Given the description of an element on the screen output the (x, y) to click on. 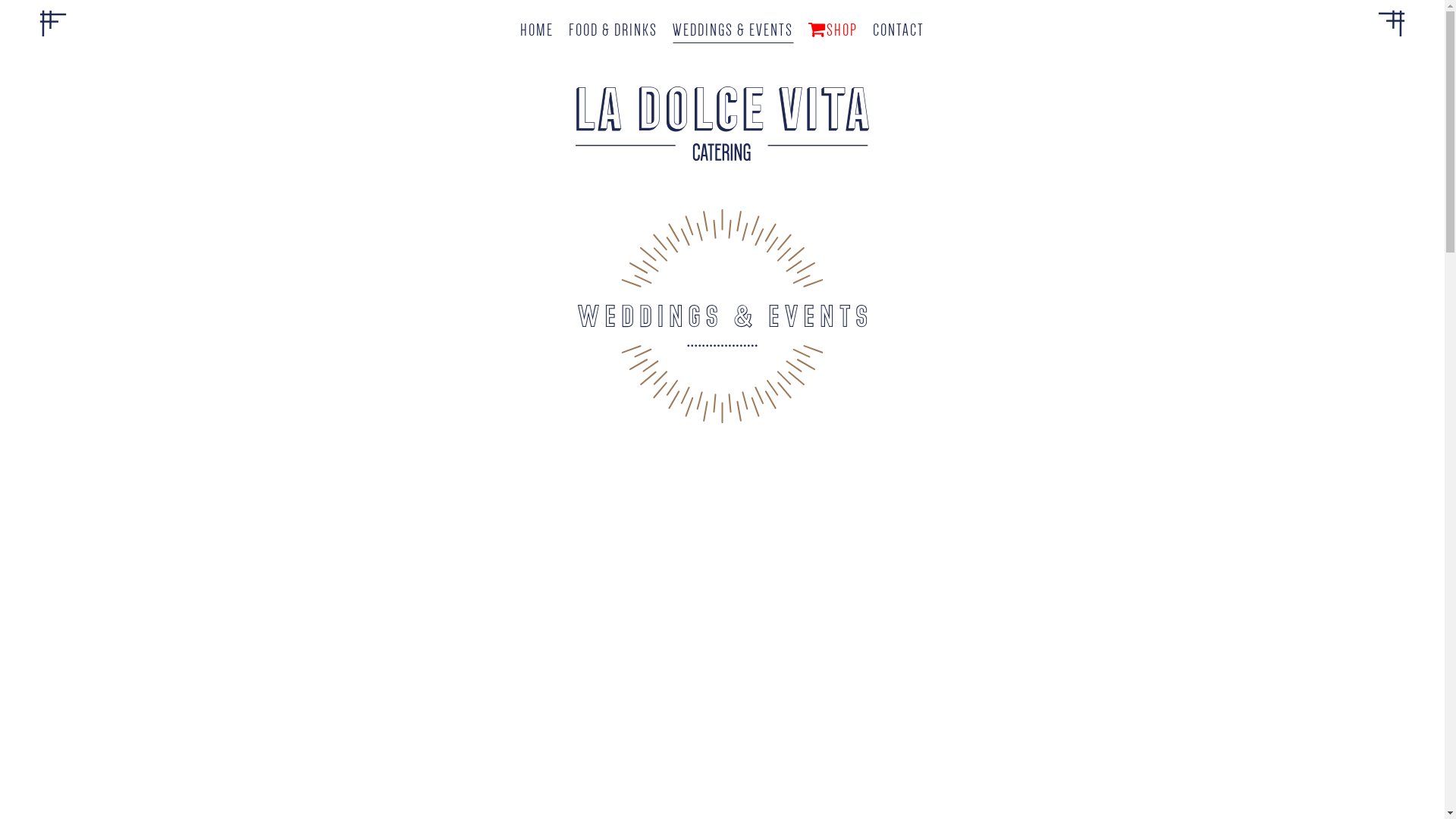
WEDDINGS & EVENTS Element type: text (732, 30)
HOME Element type: text (536, 30)
corner1 Element type: hover (52, 22)
weddings Element type: hover (721, 316)
logo Element type: hover (722, 123)
CONTACT Element type: text (898, 30)
FOOD & DRINKS Element type: text (613, 30)
SHOP Element type: text (832, 30)
corner2 Element type: hover (1391, 22)
